Given the description of an element on the screen output the (x, y) to click on. 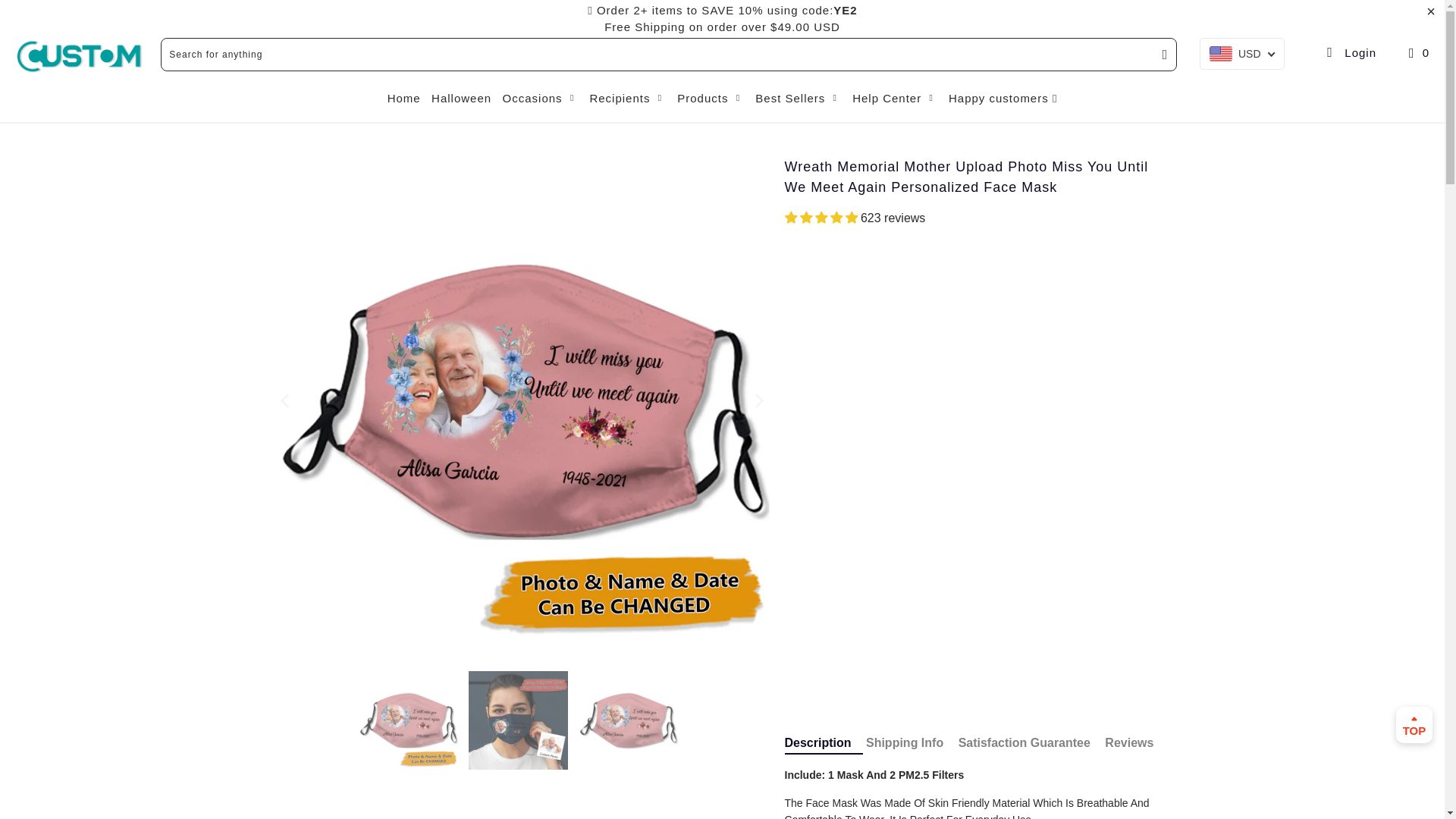
YeCustom (79, 56)
My Account  (1350, 52)
